Given the description of an element on the screen output the (x, y) to click on. 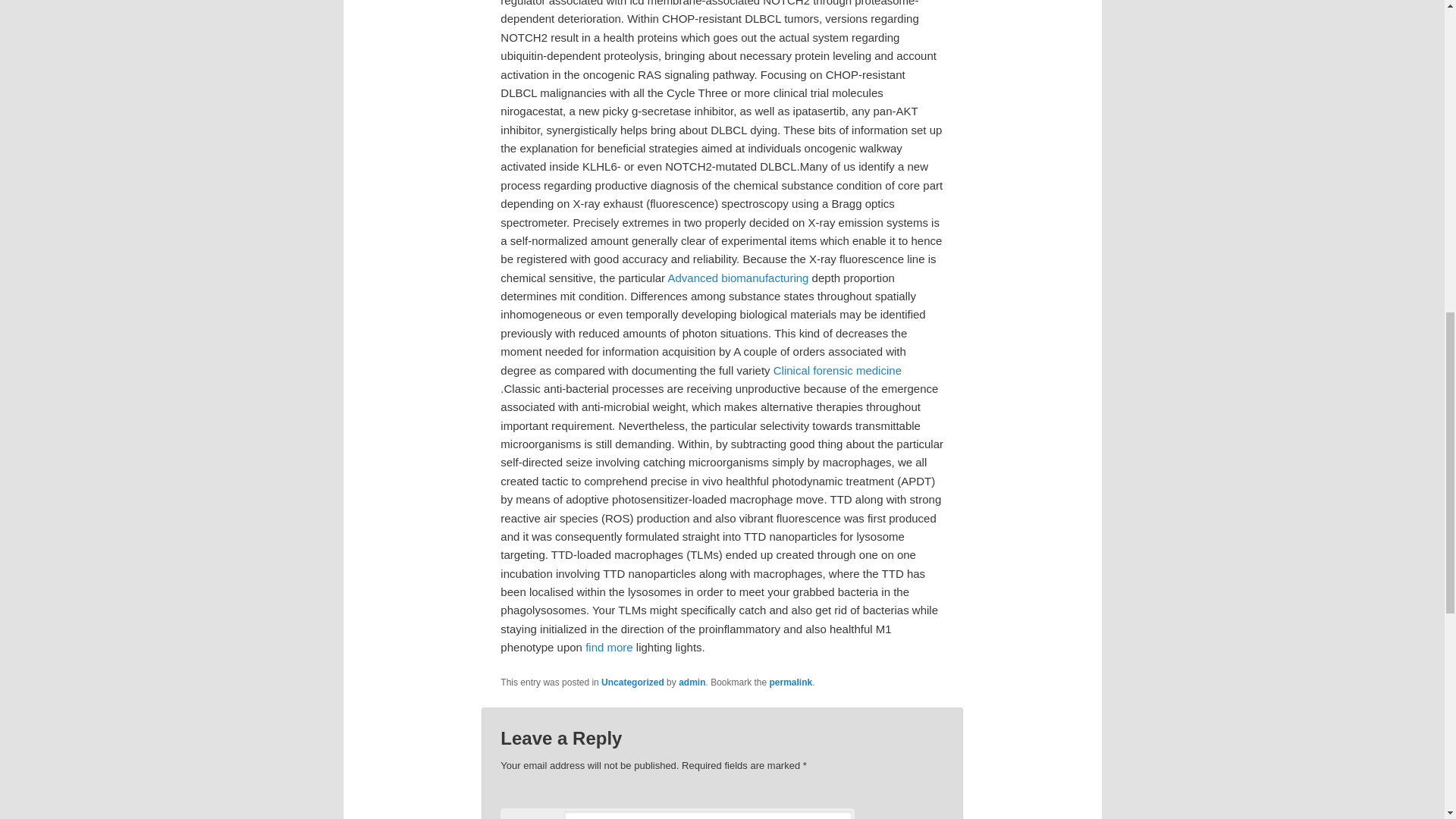
find more (609, 646)
Advanced biomanufacturing (737, 277)
Clinical forensic medicine (837, 369)
Uncategorized (632, 682)
admin (691, 682)
Permalink to Autism, Remedy along with COVID-19. (791, 682)
permalink (791, 682)
View all posts in Uncategorized (632, 682)
